Given the description of an element on the screen output the (x, y) to click on. 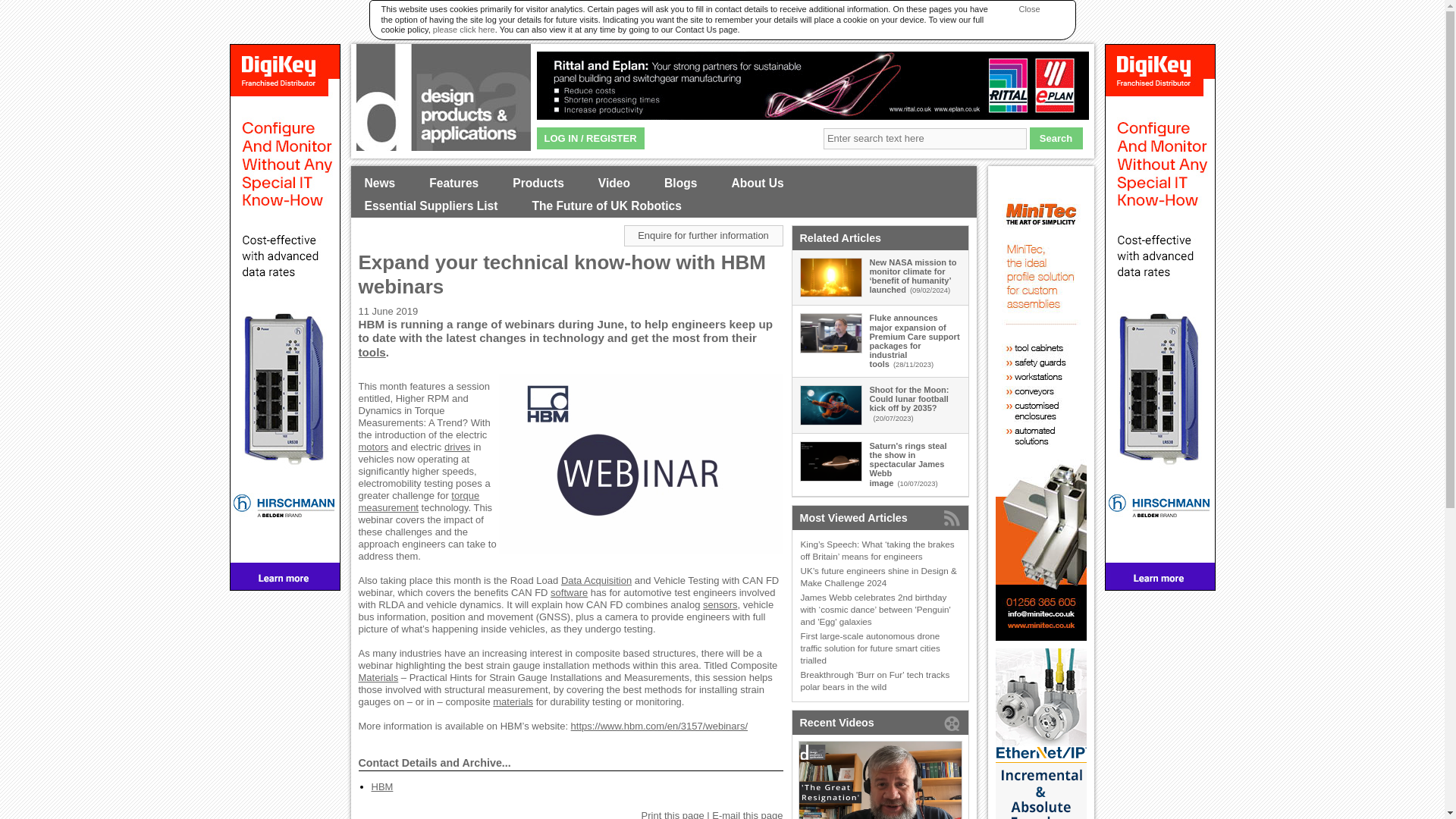
please click here (463, 29)
Products (538, 183)
News (379, 183)
Features (454, 183)
